Given the description of an element on the screen output the (x, y) to click on. 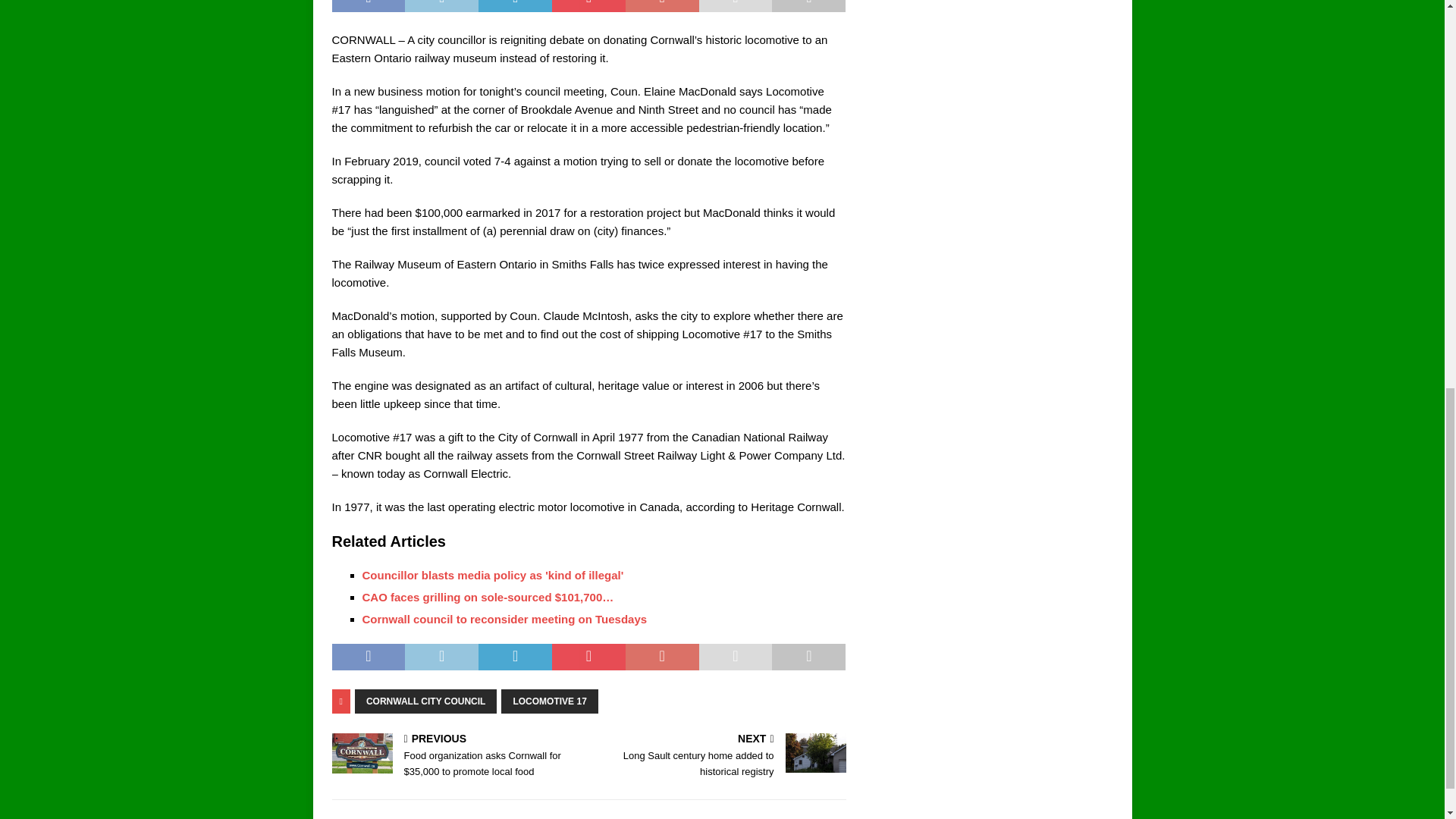
Councillor blasts media policy as 'kind of illegal' (493, 574)
CORNWALL CITY COUNCIL (426, 701)
LOCOMOTIVE 17 (548, 701)
Cornwall council to reconsider meeting on Tuesdays (504, 618)
